Given the description of an element on the screen output the (x, y) to click on. 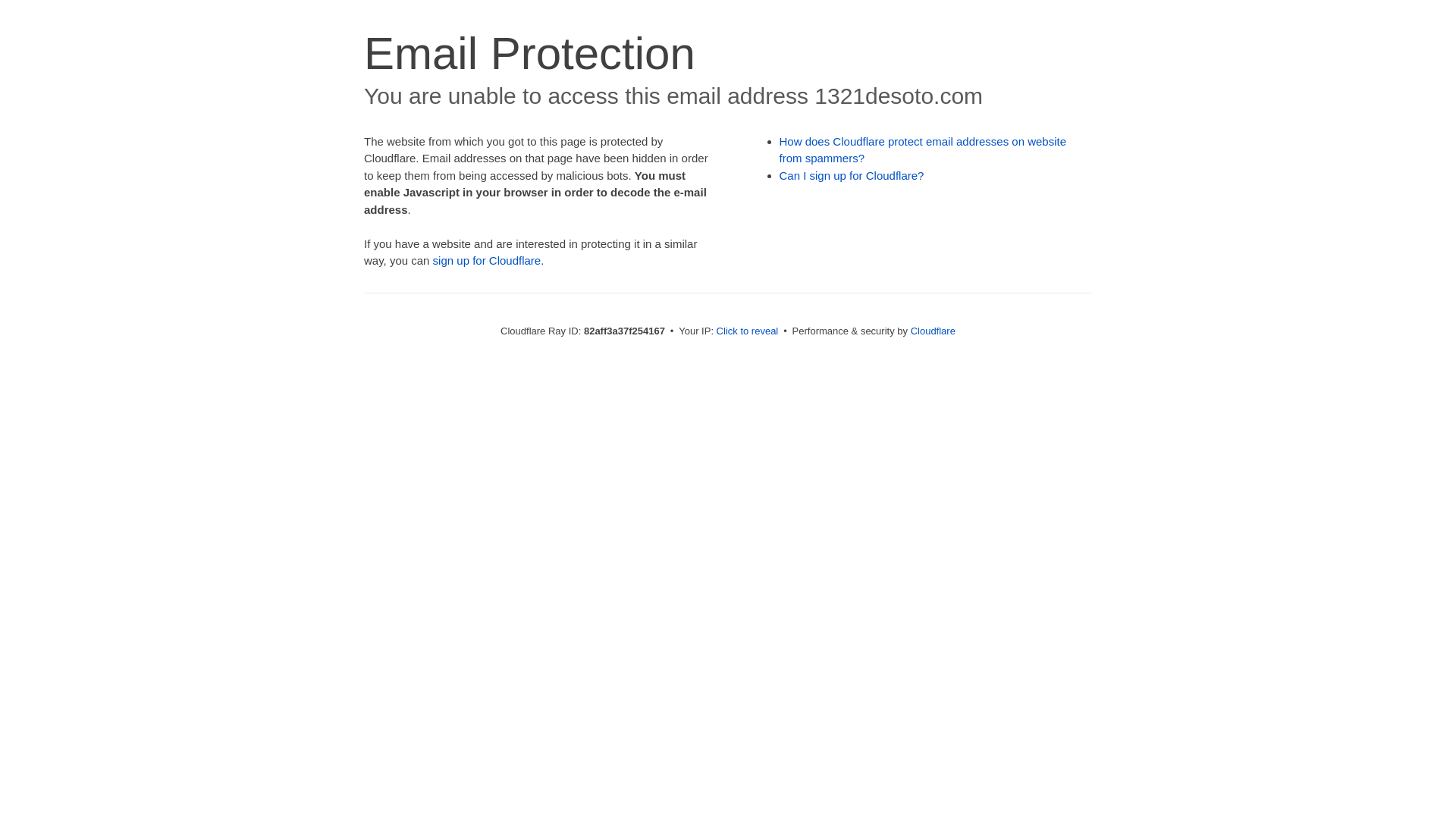
Click to reveal Element type: text (747, 330)
Cloudflare Element type: text (932, 330)
Can I sign up for Cloudflare? Element type: text (851, 175)
sign up for Cloudflare Element type: text (487, 260)
